Given the description of an element on the screen output the (x, y) to click on. 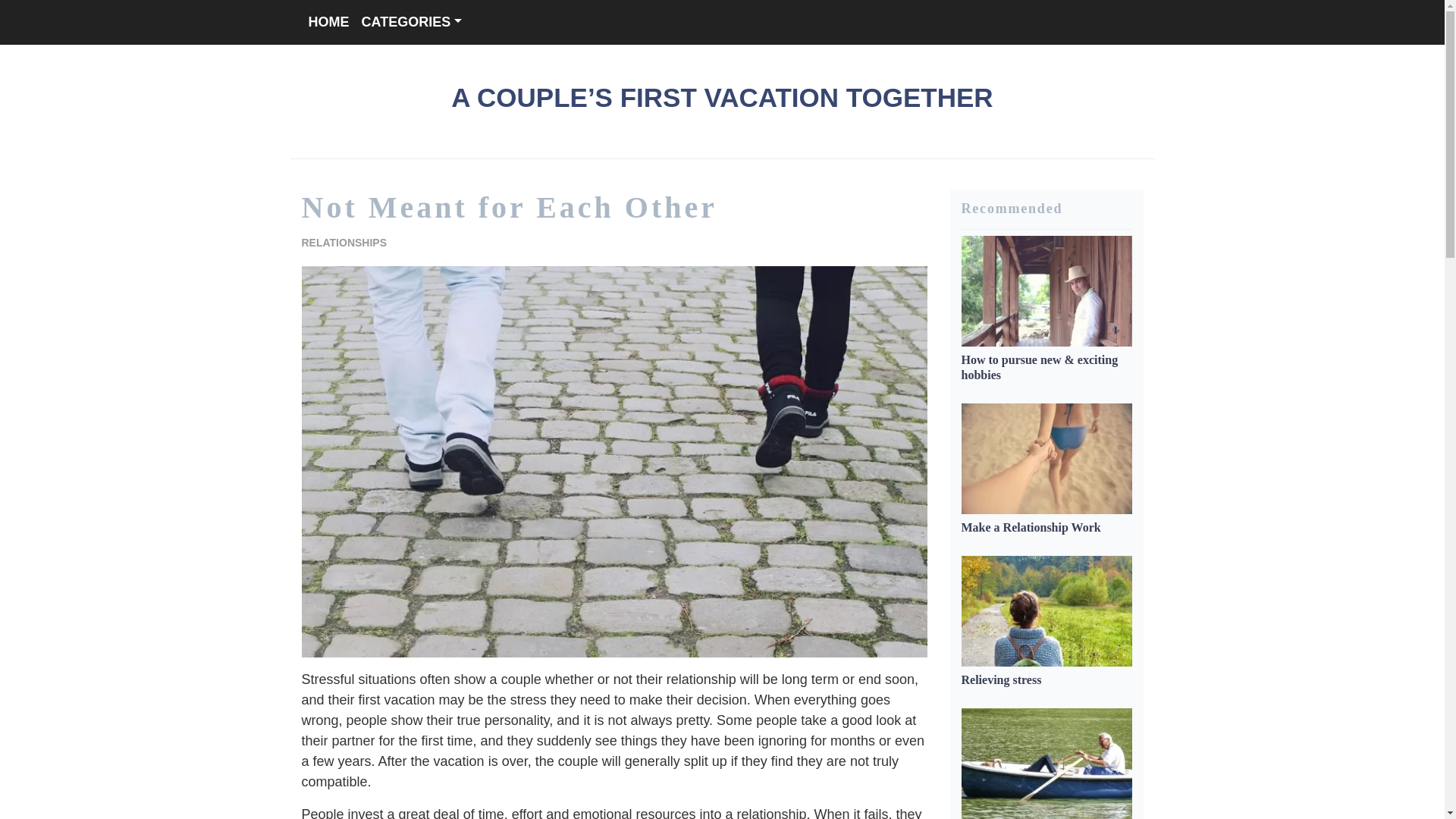
Relieving stress (1001, 679)
CATEGORIES (411, 21)
Make a Relationship Work (1030, 526)
RELATIONSHIPS (344, 242)
HOME (328, 21)
